Given the description of an element on the screen output the (x, y) to click on. 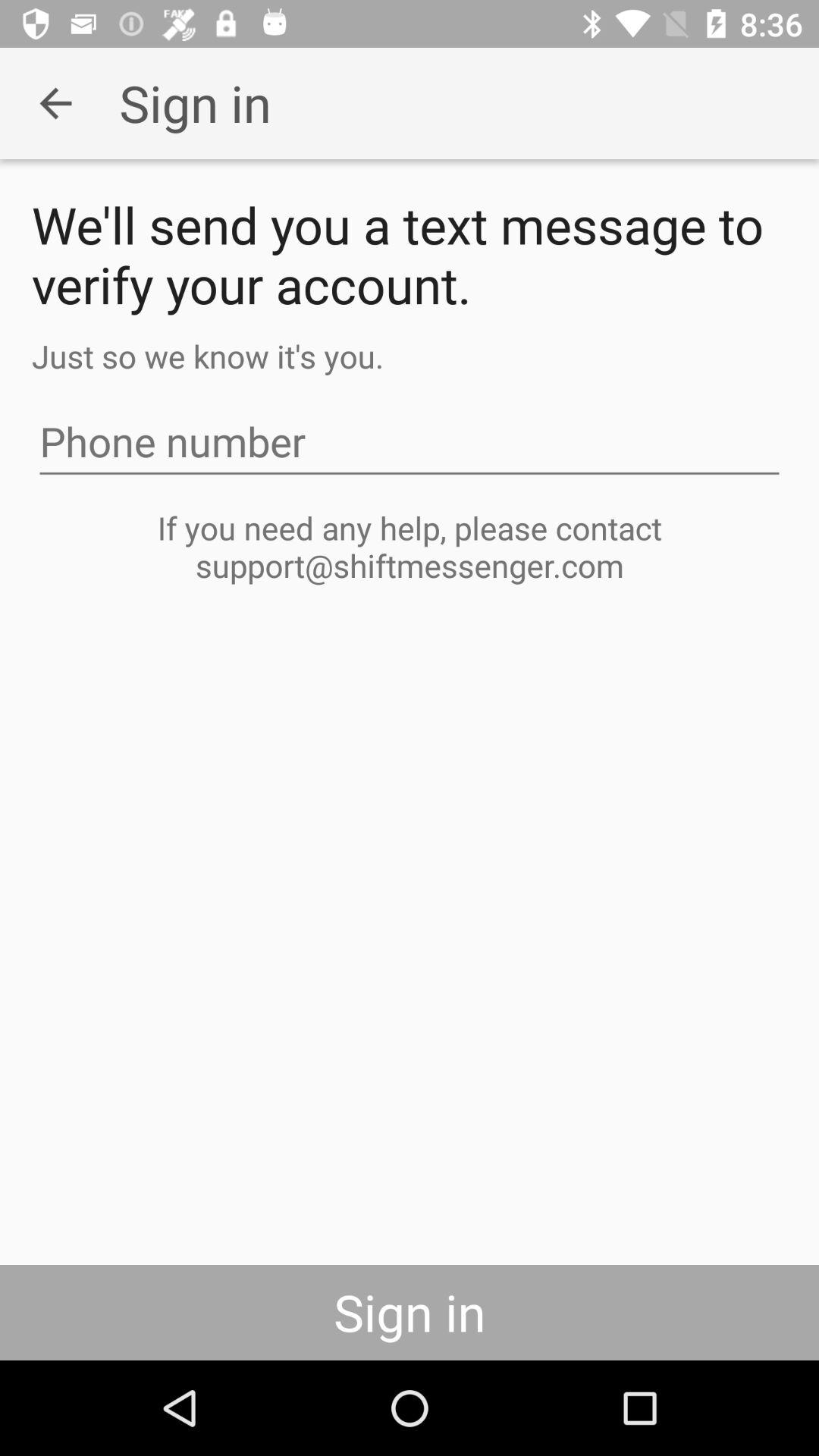
tap icon above the we ll send icon (55, 103)
